Given the description of an element on the screen output the (x, y) to click on. 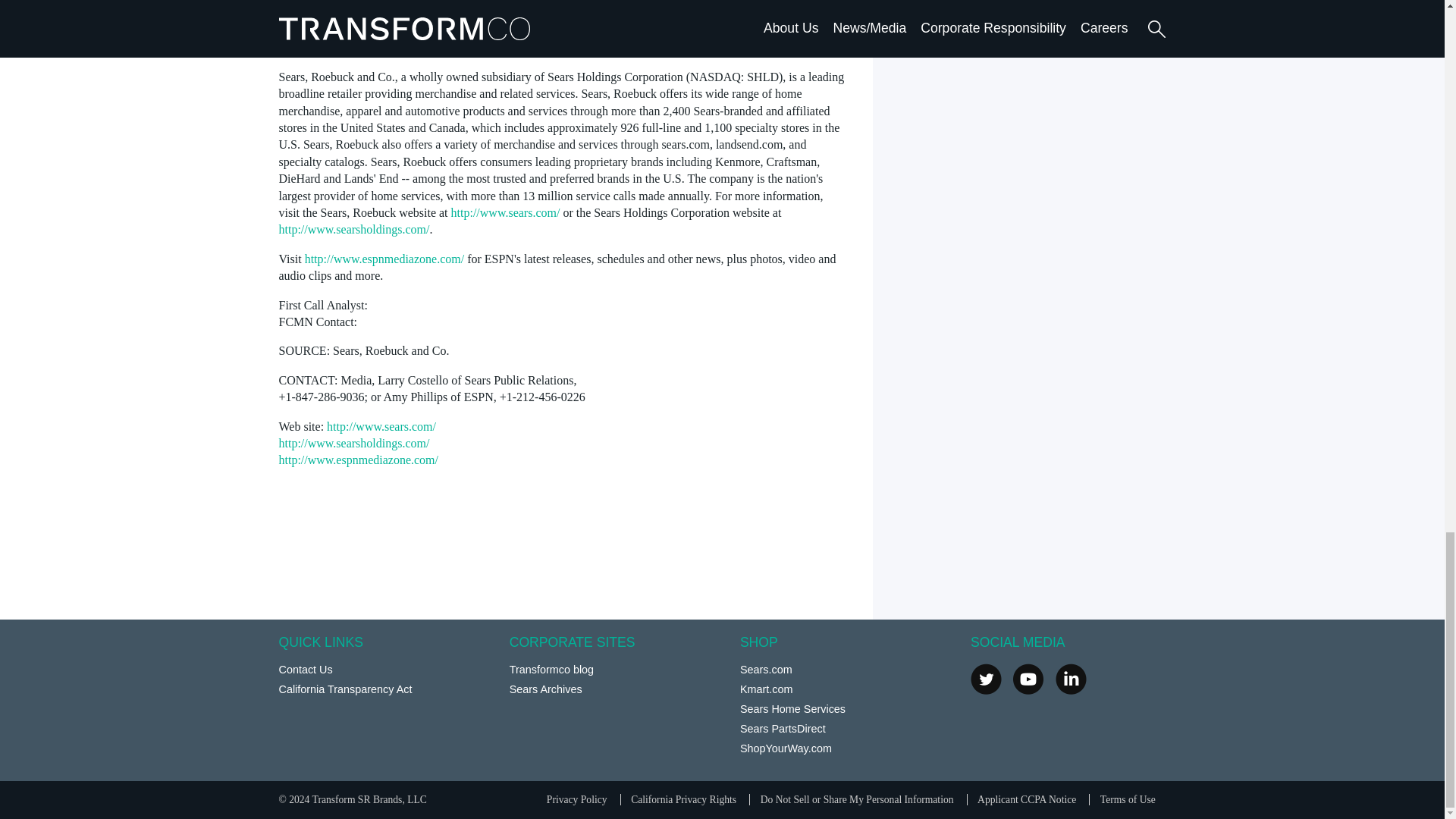
Follow us on YouTube (1028, 678)
California Privacy Rights (683, 799)
Terms of Use (1128, 799)
Applicant CCPA Notice (1025, 799)
Privacy Policy (577, 799)
Follow us on Twitter (986, 678)
Follow us on LinkedIn (1070, 678)
